Given the description of an element on the screen output the (x, y) to click on. 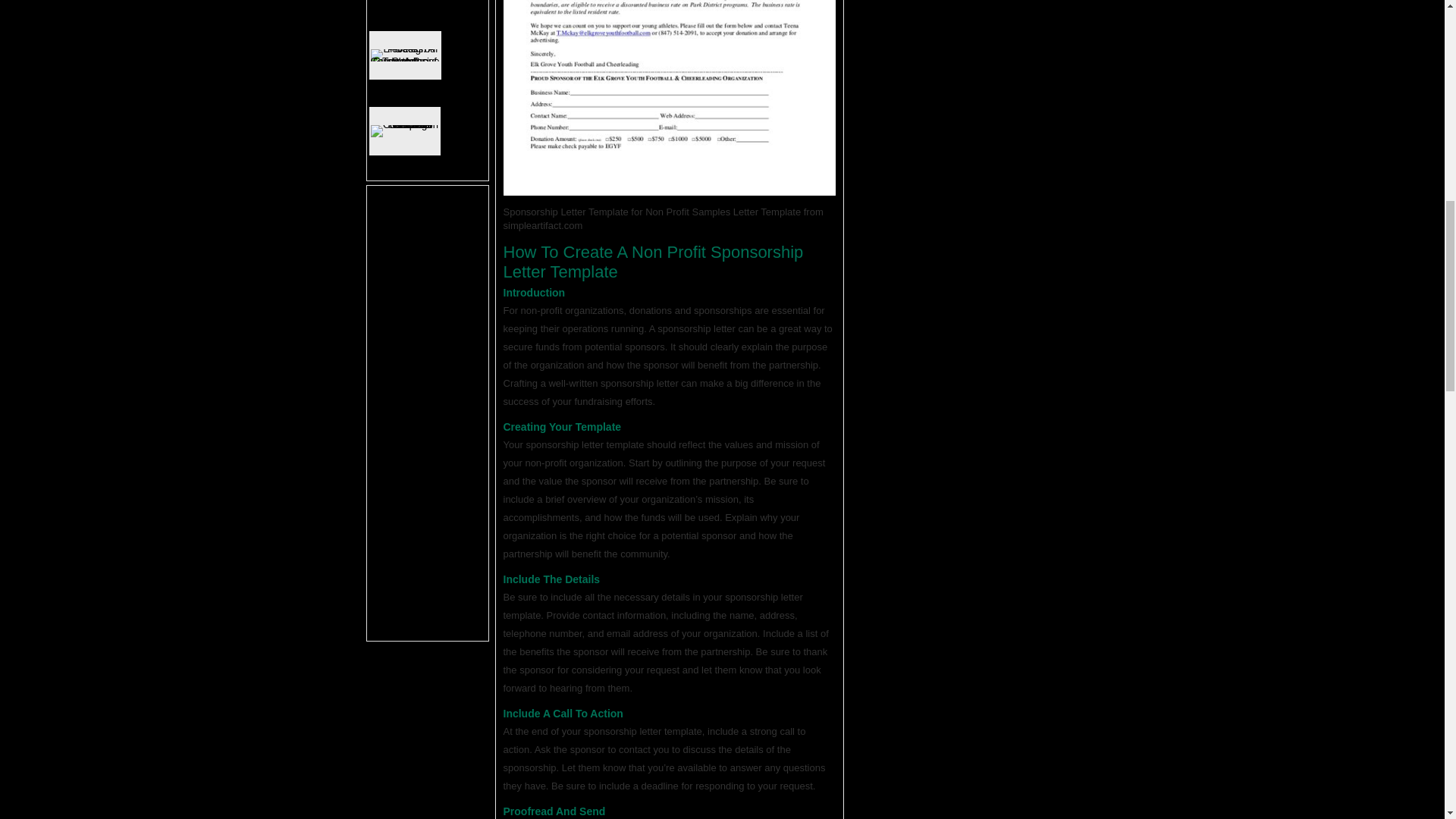
Master Attendance Tracking: A Compr (421, 11)
